Given the description of an element on the screen output the (x, y) to click on. 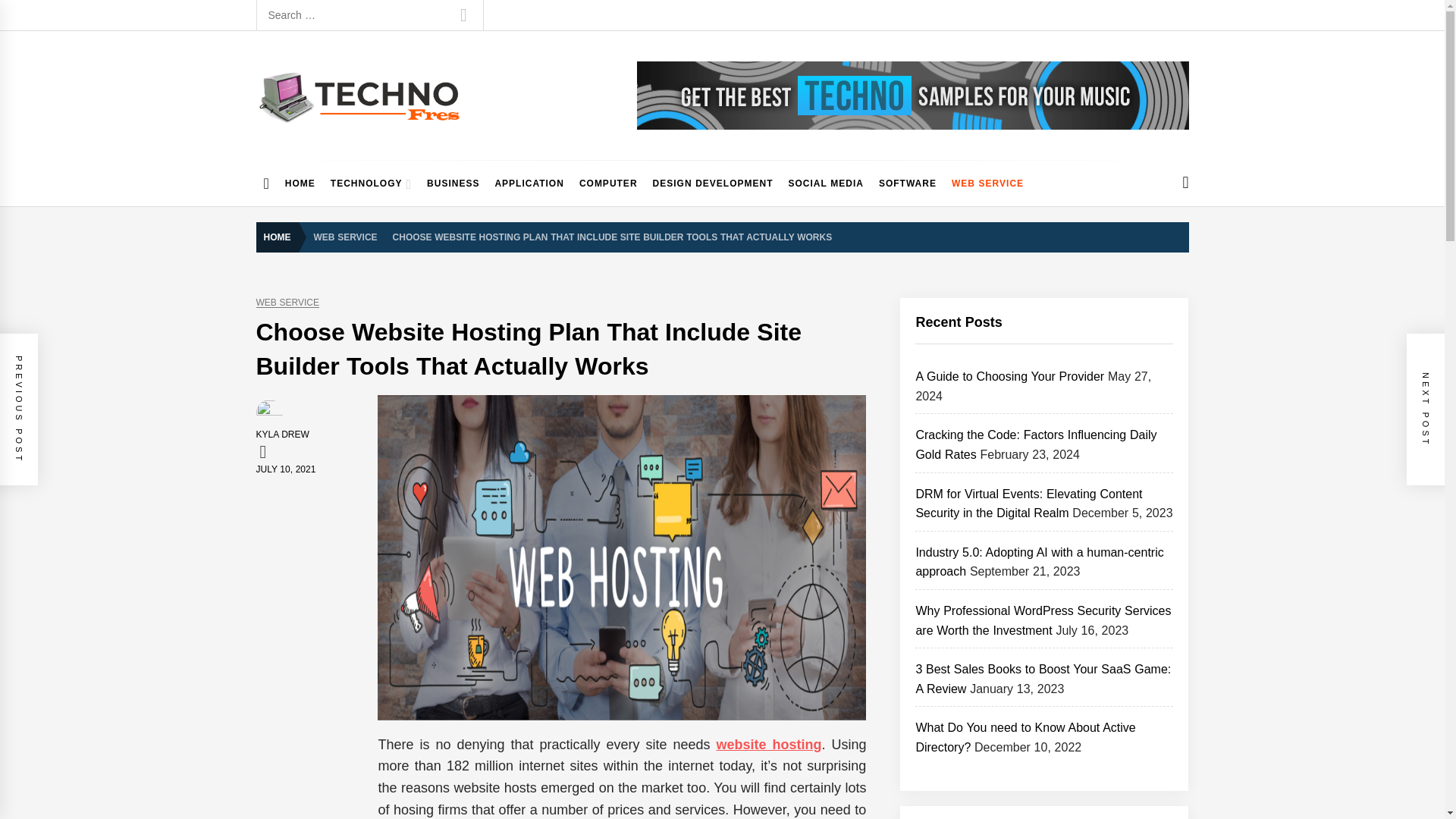
BUSINESS (452, 183)
HOME (300, 183)
WEB SERVICE (345, 236)
Search (462, 15)
TECHNOLOGY (371, 183)
JULY 10, 2021 (285, 469)
Header Advertise (913, 95)
Industry 5.0: Adopting AI with a human-centric approach (1039, 562)
DESIGN DEVELOPMENT (712, 183)
What Do You need to Know About Active Directory? (1025, 737)
WEB SERVICE (287, 302)
APPLICATION (528, 183)
Cracking the Code: Factors Influencing Daily Gold Rates (1035, 444)
